Given the description of an element on the screen output the (x, y) to click on. 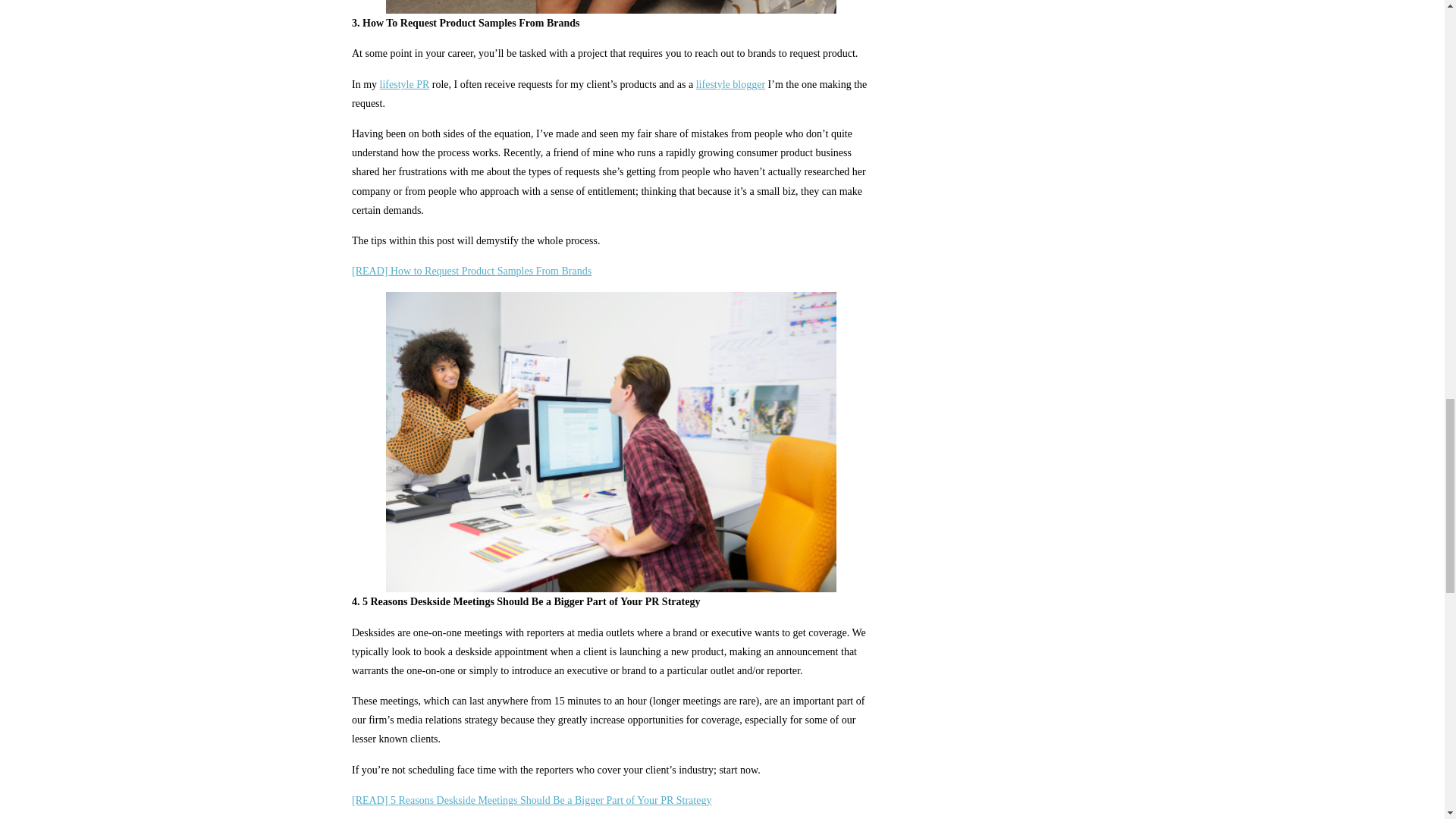
Hashtags and Stilettos (730, 84)
lifestyle blogger (730, 84)
How To Request Product Samples From Brands (471, 270)
House of Success PR (404, 84)
lifestyle PR (404, 84)
